Given the description of an element on the screen output the (x, y) to click on. 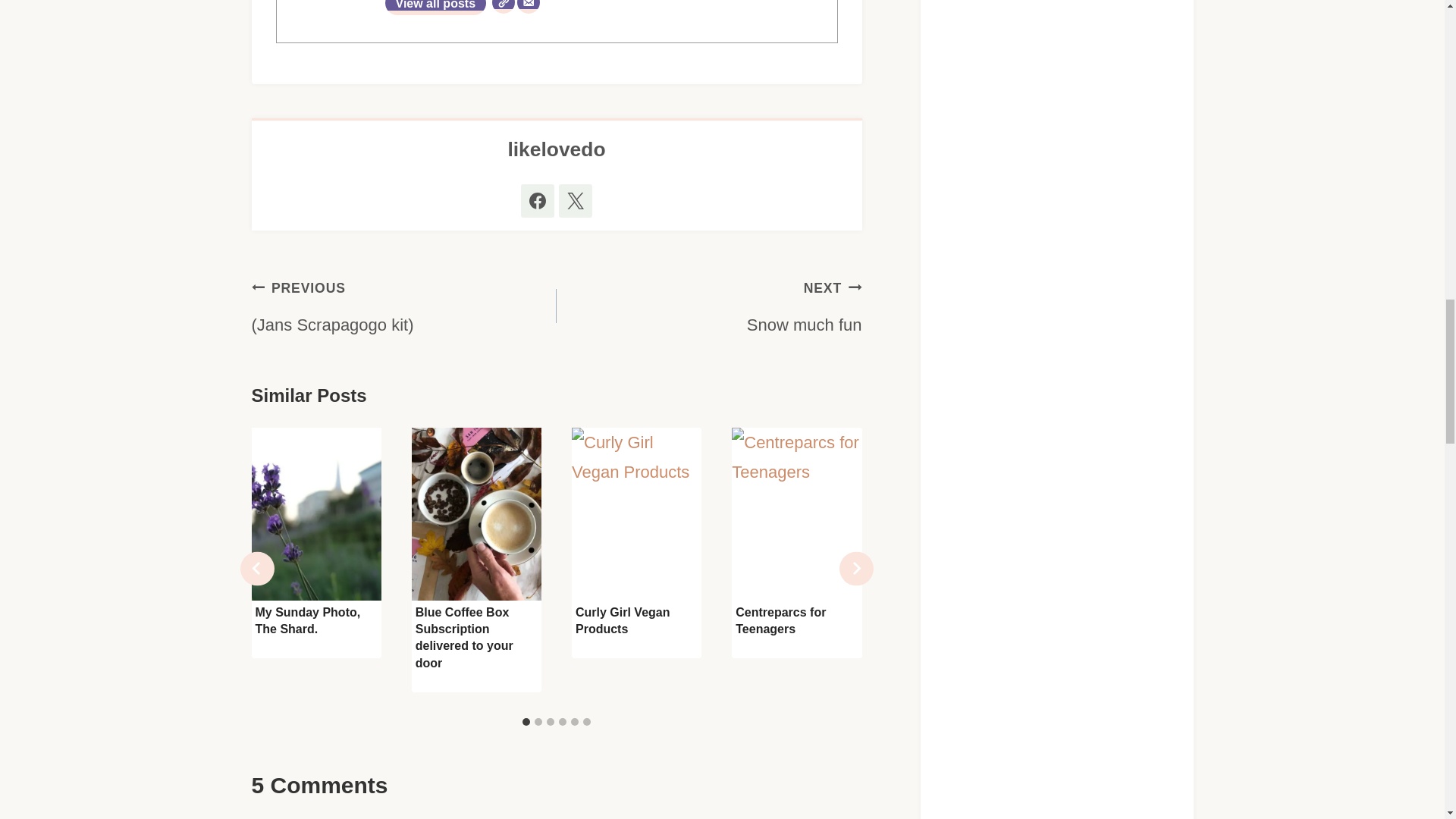
Follow likelovedo on Facebook (537, 200)
Posts by likelovedo (555, 149)
View all posts (435, 7)
Follow likelovedo on X formerly Twitter (575, 200)
